Given the description of an element on the screen output the (x, y) to click on. 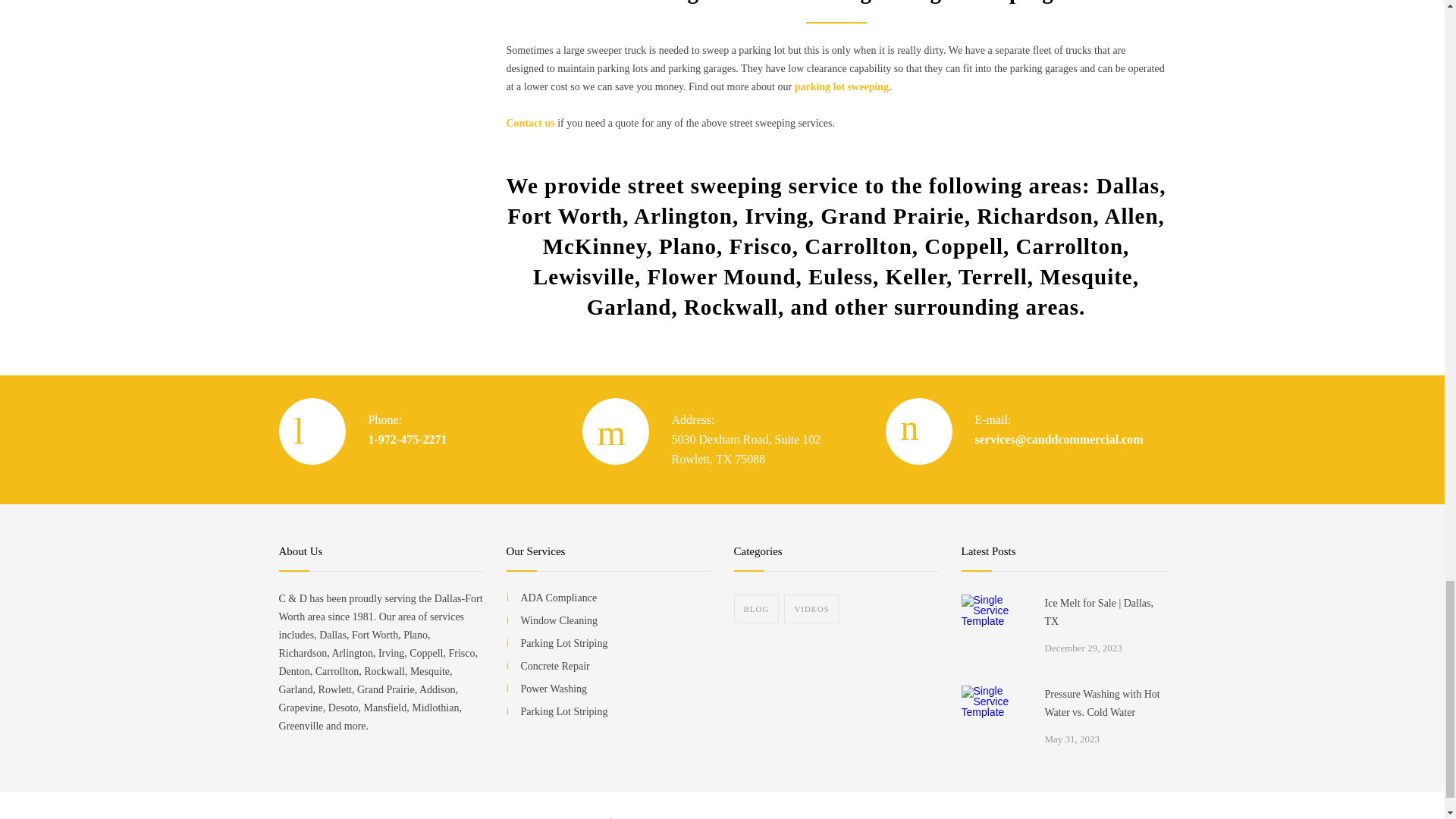
Pressure Washing with Hot Water vs. Cold Water (994, 719)
Pressure Washing with Hot Water vs. Cold Water (1105, 703)
